Given the description of an element on the screen output the (x, y) to click on. 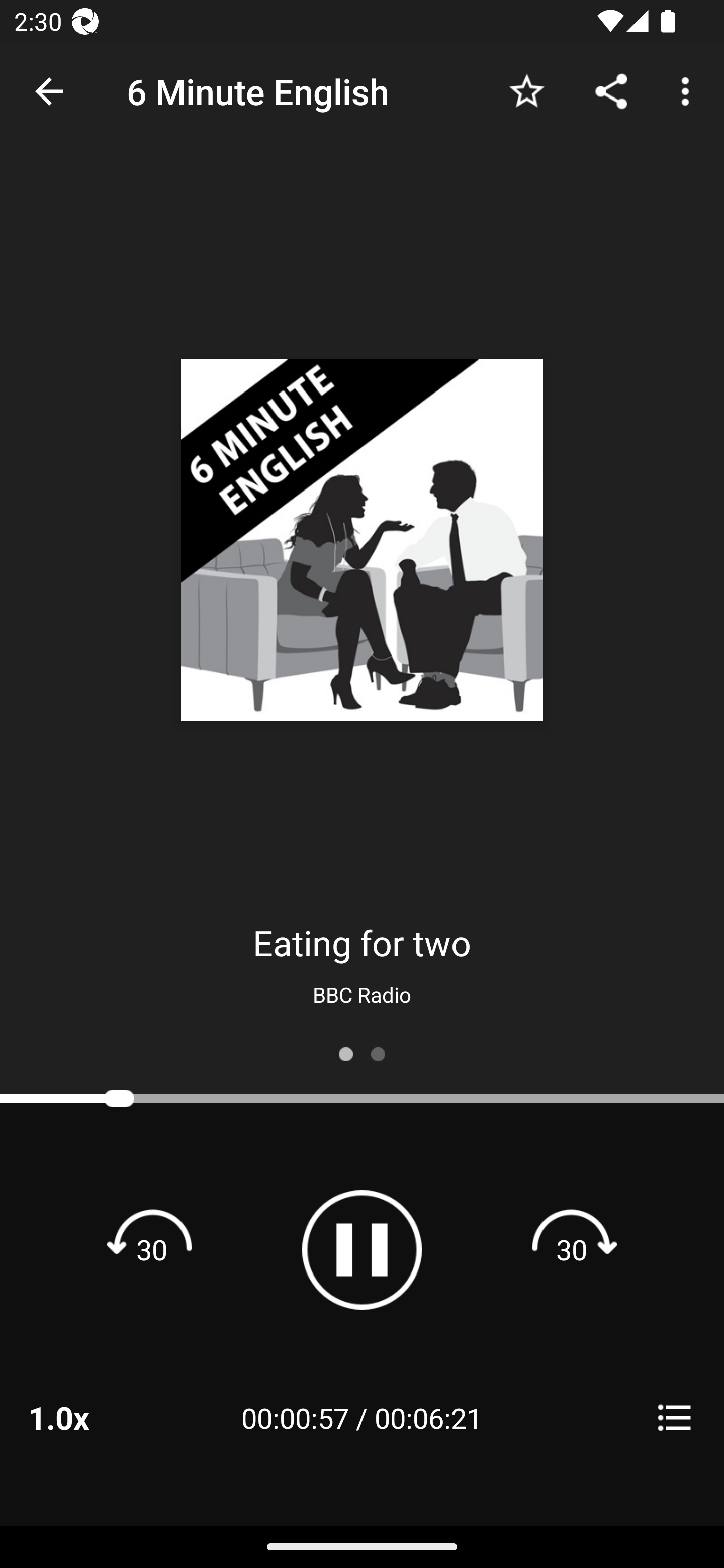
Navigate up (49, 91)
Add to Favorites (526, 90)
Share... (611, 90)
More options (688, 90)
BBC Radio (361, 994)
Pause (361, 1249)
Rewind (151, 1249)
Fast forward (571, 1249)
1.0x Playback Speeds (84, 1417)
00:06:21 (428, 1417)
